Given the description of an element on the screen output the (x, y) to click on. 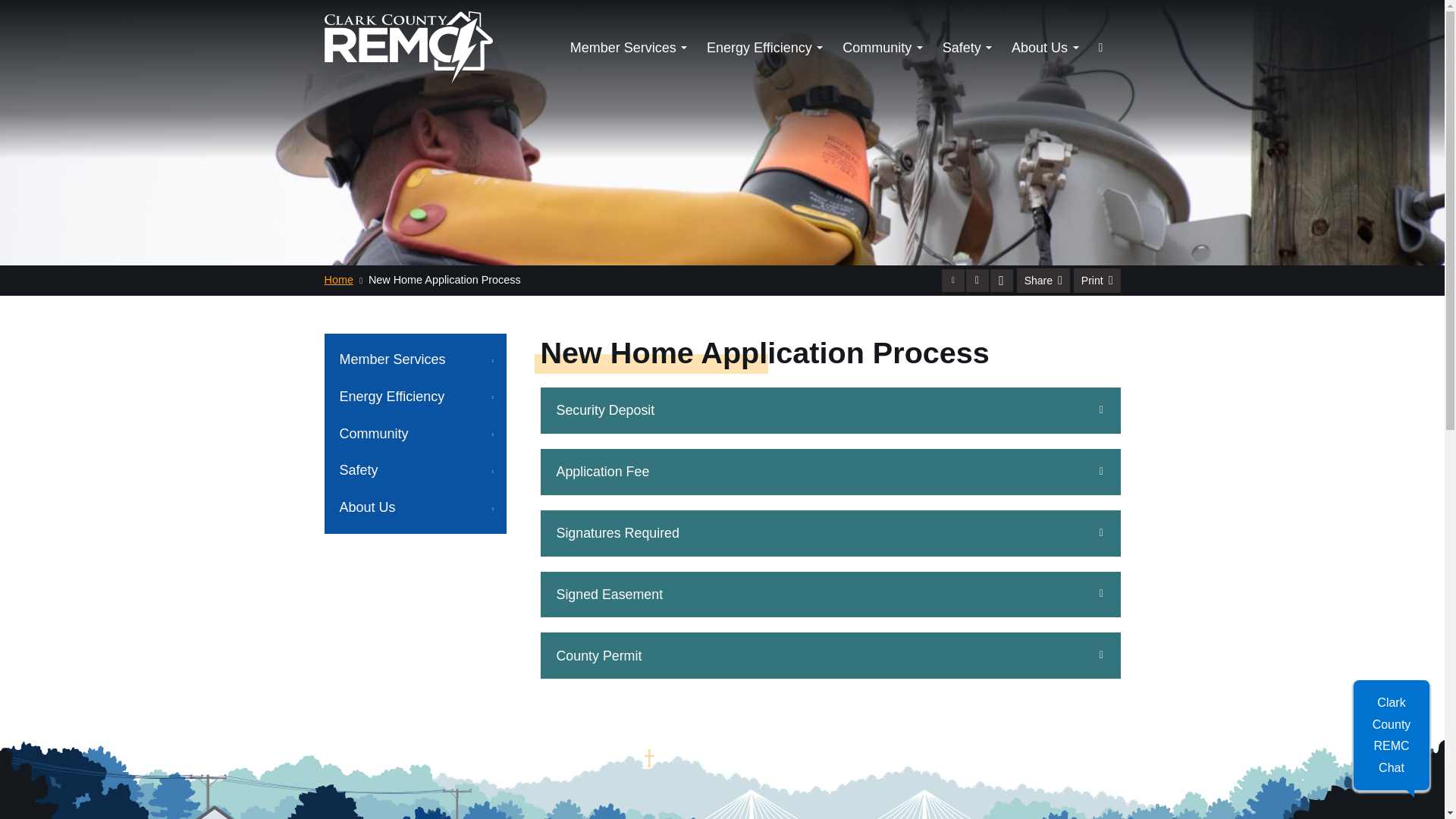
reset to default font size (977, 280)
About Us (1044, 46)
Home (338, 279)
Member Services (628, 46)
Safety (966, 46)
reduce font size (952, 280)
Community (882, 46)
Go to Clark County REMC. (338, 279)
Energy Efficiency (764, 46)
Clark County REMC (408, 47)
